Given the description of an element on the screen output the (x, y) to click on. 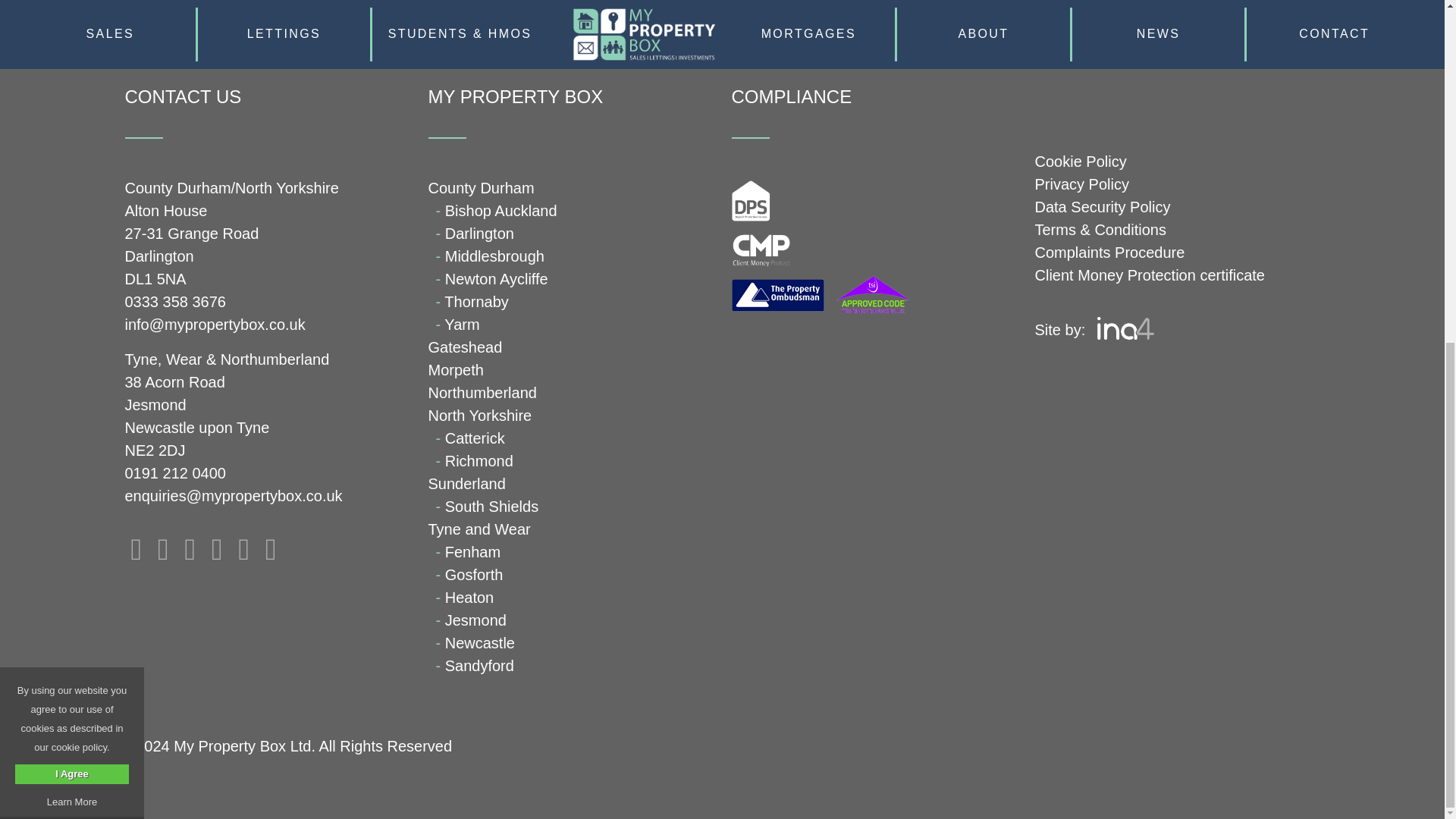
read our cookie policy (71, 217)
